Given the description of an element on the screen output the (x, y) to click on. 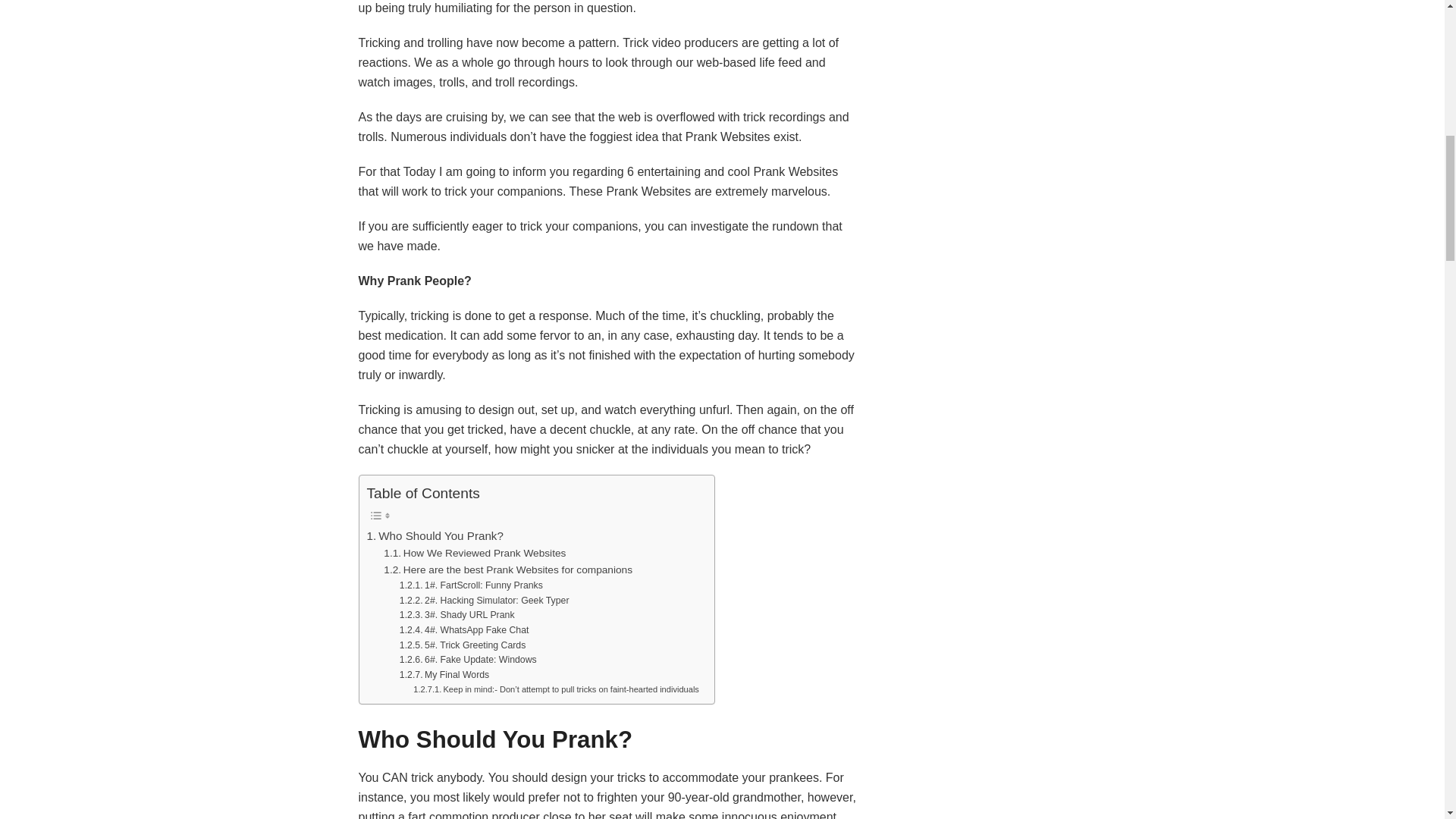
How We Reviewed Prank Websites (475, 553)
Here are the best Prank Websites for companions (507, 569)
My Final Words (443, 675)
